Given the description of an element on the screen output the (x, y) to click on. 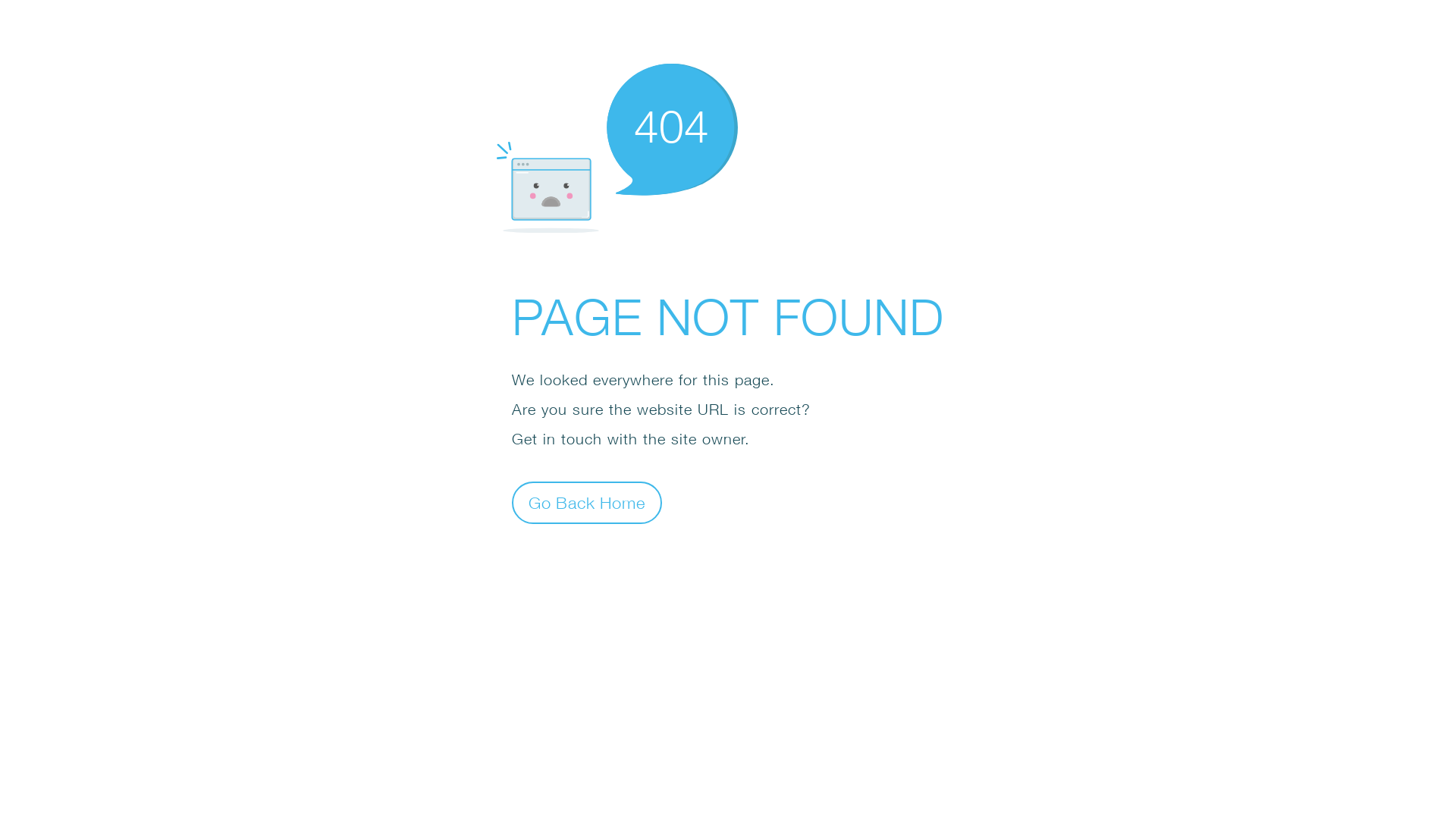
Go Back Home Element type: text (586, 502)
